Given the description of an element on the screen output the (x, y) to click on. 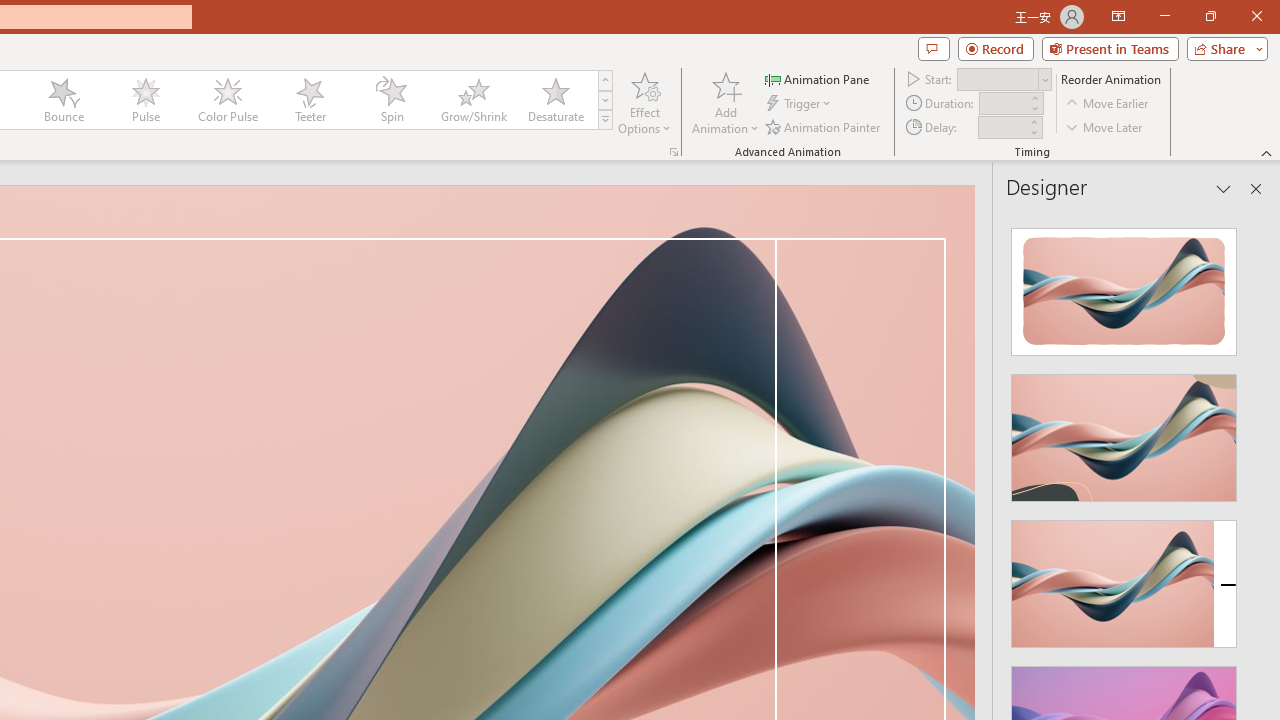
Add Animation (725, 102)
Move Earlier (1107, 103)
More Options... (673, 151)
Grow/Shrink (473, 100)
Animation Duration (1003, 103)
Teeter (309, 100)
